Given the description of an element on the screen output the (x, y) to click on. 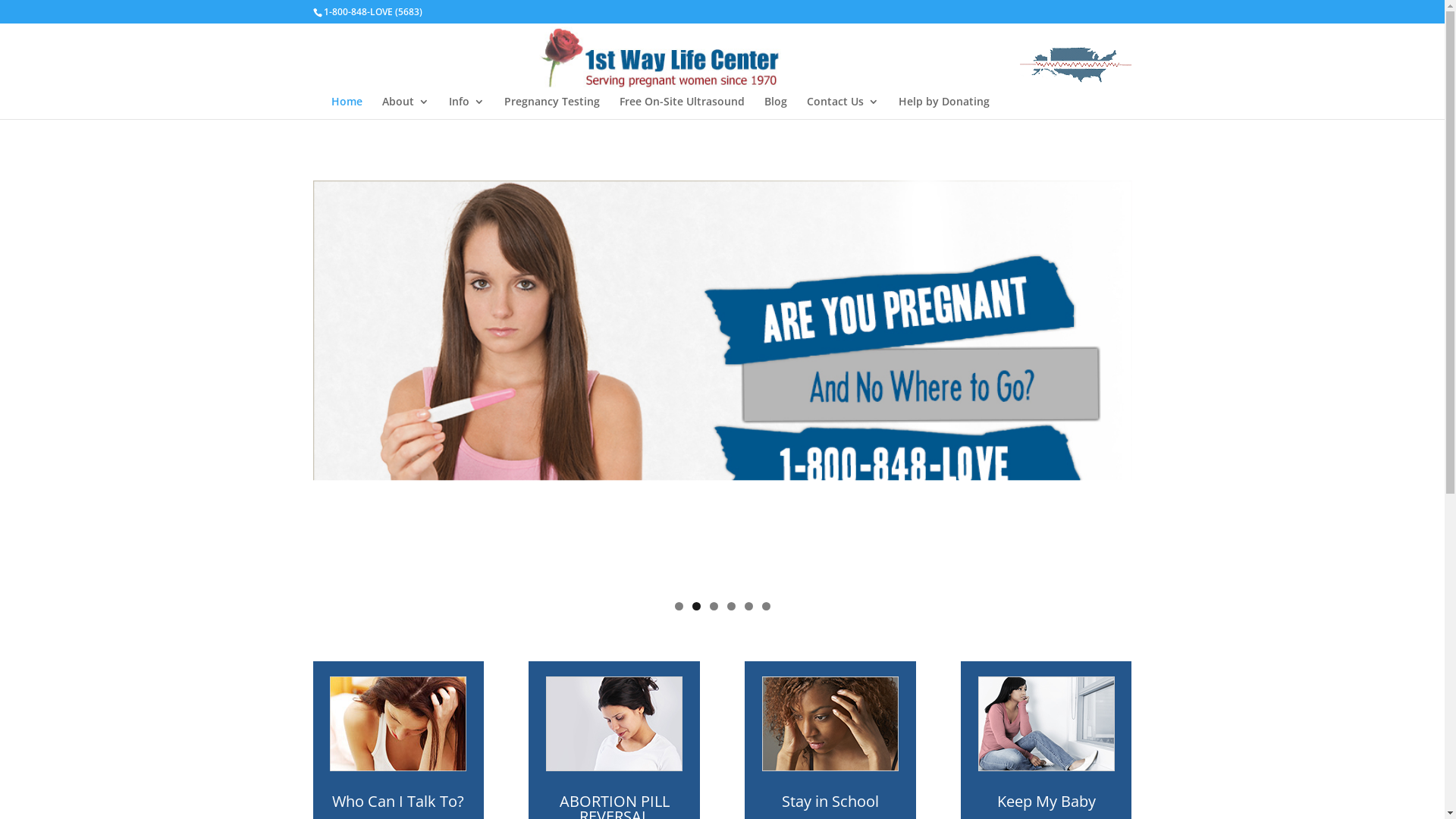
Info Element type: text (466, 107)
6 Element type: text (765, 606)
1 Element type: text (678, 606)
  Element type: text (661, 56)
About Element type: text (405, 107)
Help by Donating Element type: text (942, 107)
5 Element type: text (748, 606)
Free On-Site Ultrasound Element type: text (680, 107)
Pregnancy Testing Element type: text (551, 107)
Home Element type: text (345, 107)
2 Element type: text (695, 606)
Contact Us Element type: text (842, 107)
pregant-no-where-to-go2 Element type: hover (721, 384)
3 Element type: text (713, 606)
4 Element type: text (730, 606)
Blog Element type: text (775, 107)
